Given the description of an element on the screen output the (x, y) to click on. 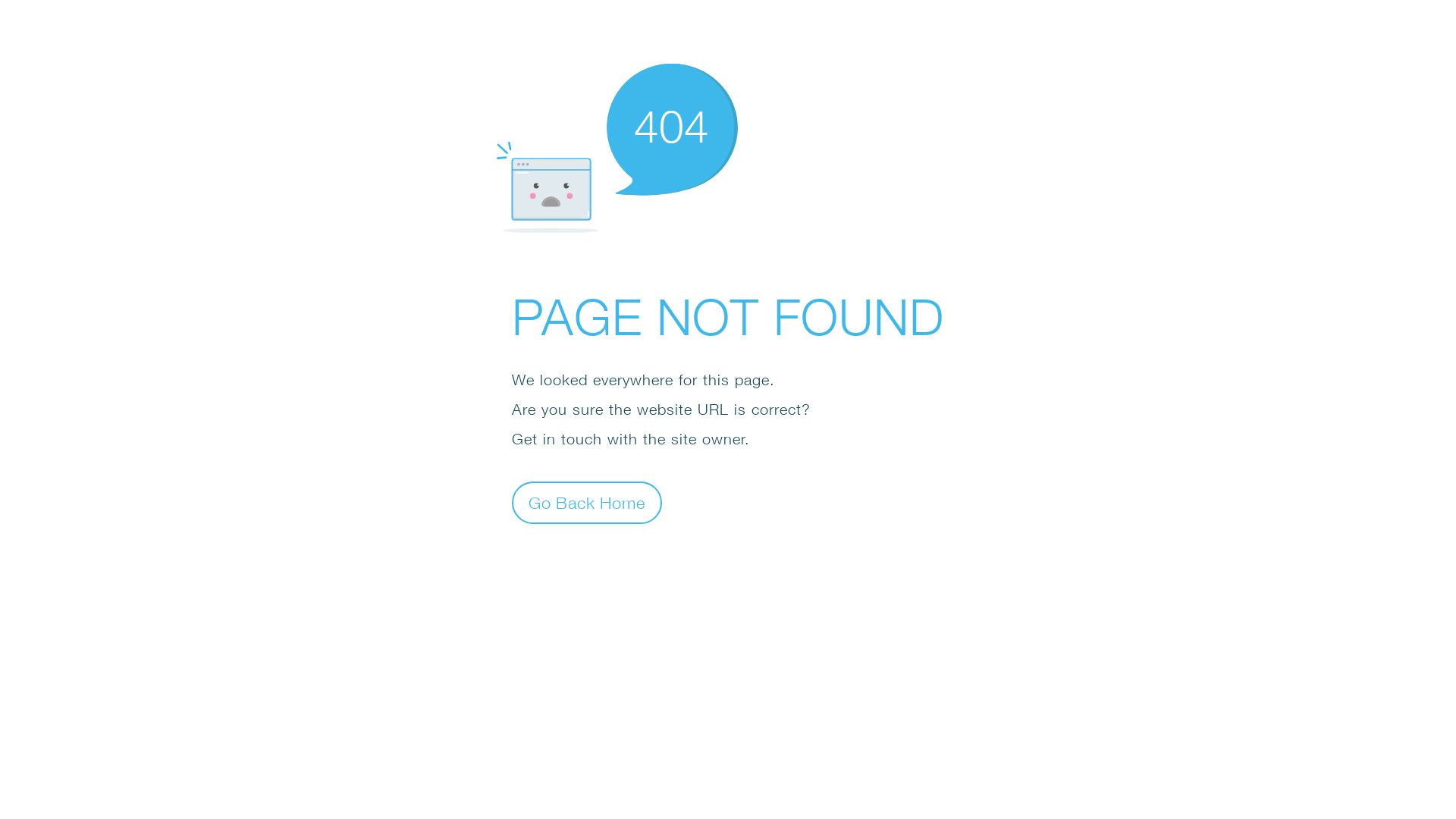
Go Back Home Element type: text (586, 502)
